Given the description of an element on the screen output the (x, y) to click on. 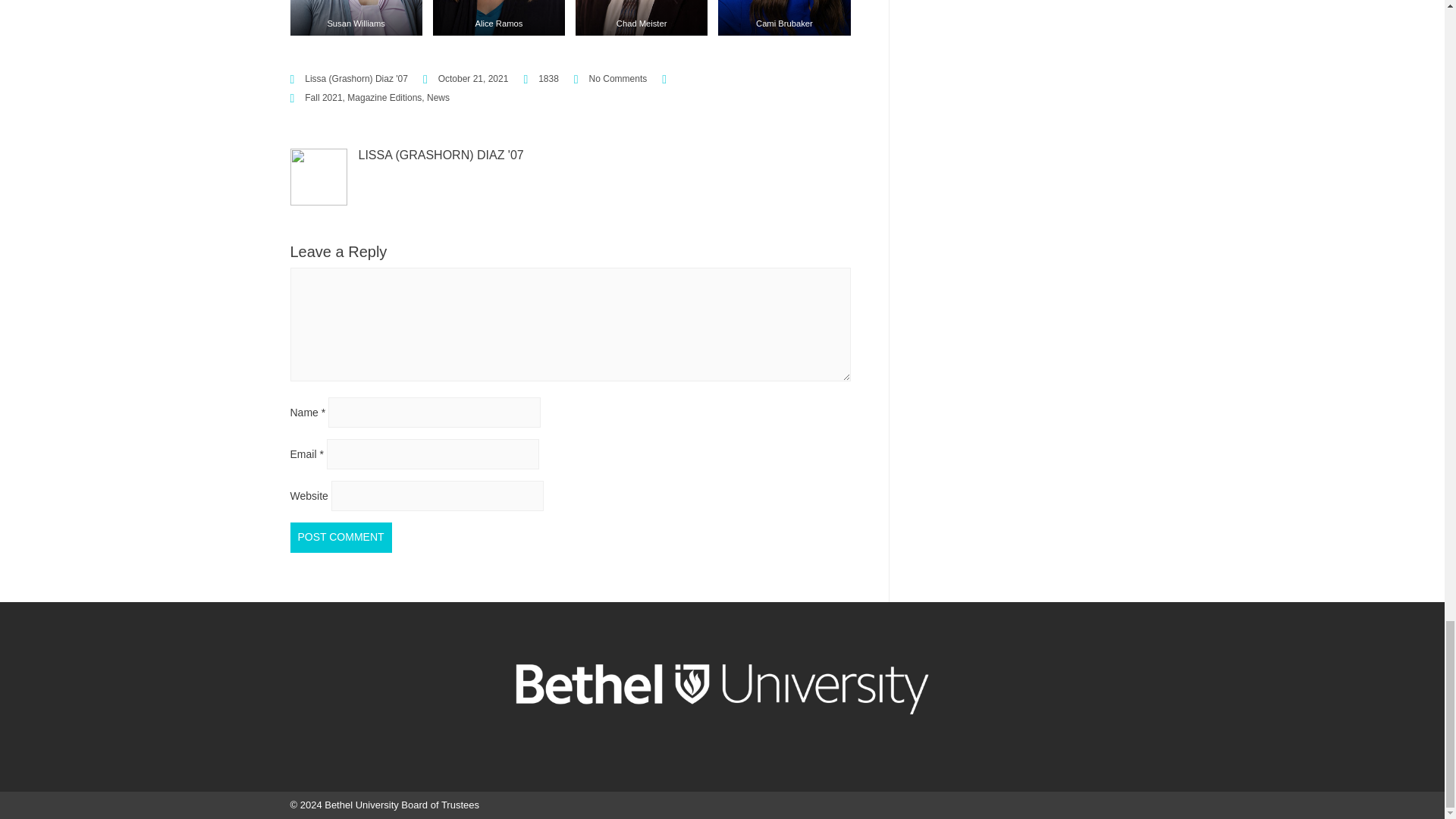
News (437, 97)
Post Comment (340, 536)
Fall 2021 (323, 97)
Post Comment (340, 536)
Magazine Editions (384, 97)
